Given the description of an element on the screen output the (x, y) to click on. 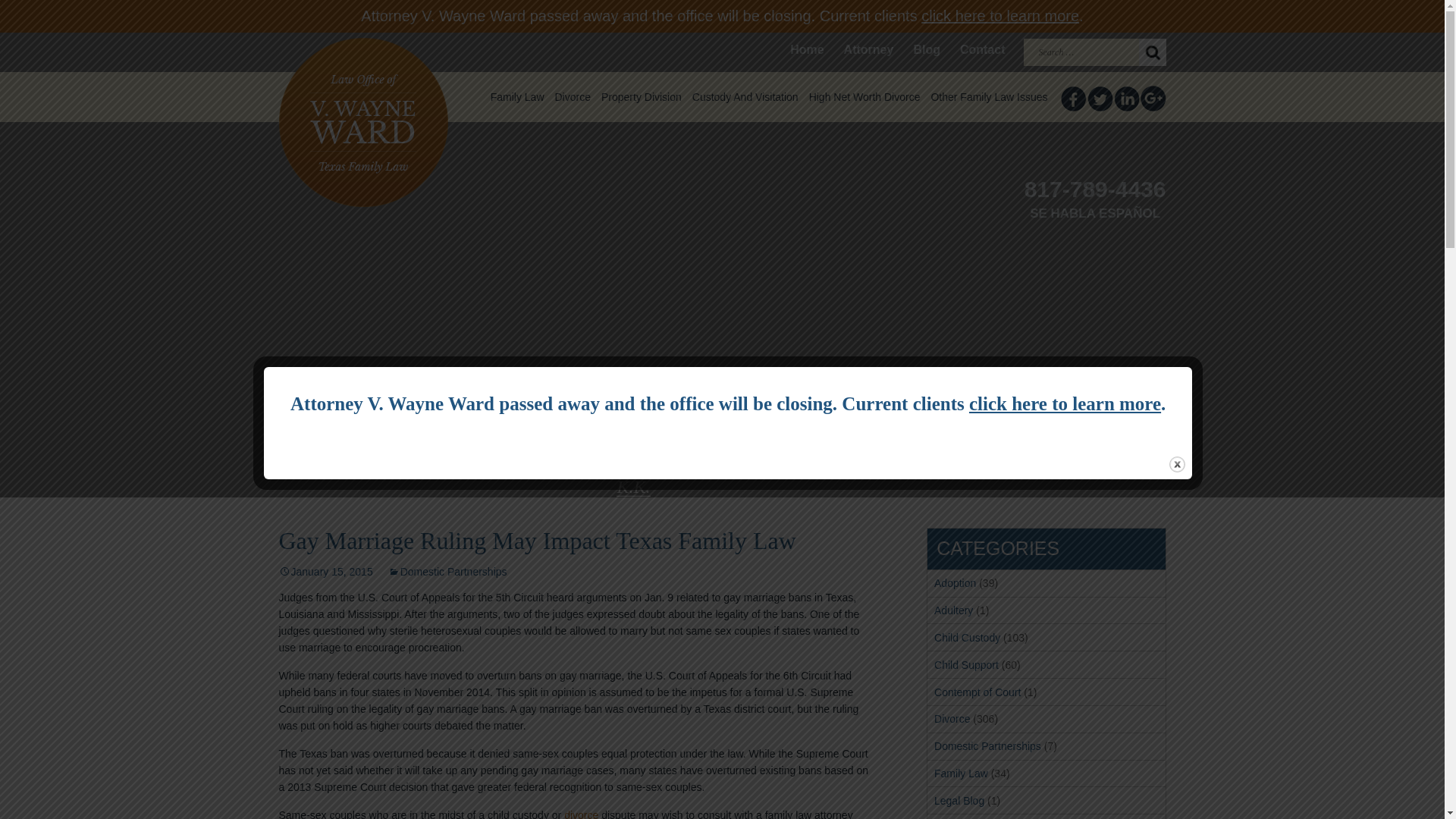
Other Family Law Issues (988, 97)
click here to learn more (999, 15)
Family Law (517, 97)
High Net Worth Divorce (864, 97)
Home (806, 49)
Search (1152, 52)
Blog (926, 49)
Adoption (954, 582)
Permalink to Gay marriage ruling may impact Texas family law (325, 571)
Contact (982, 49)
